Given the description of an element on the screen output the (x, y) to click on. 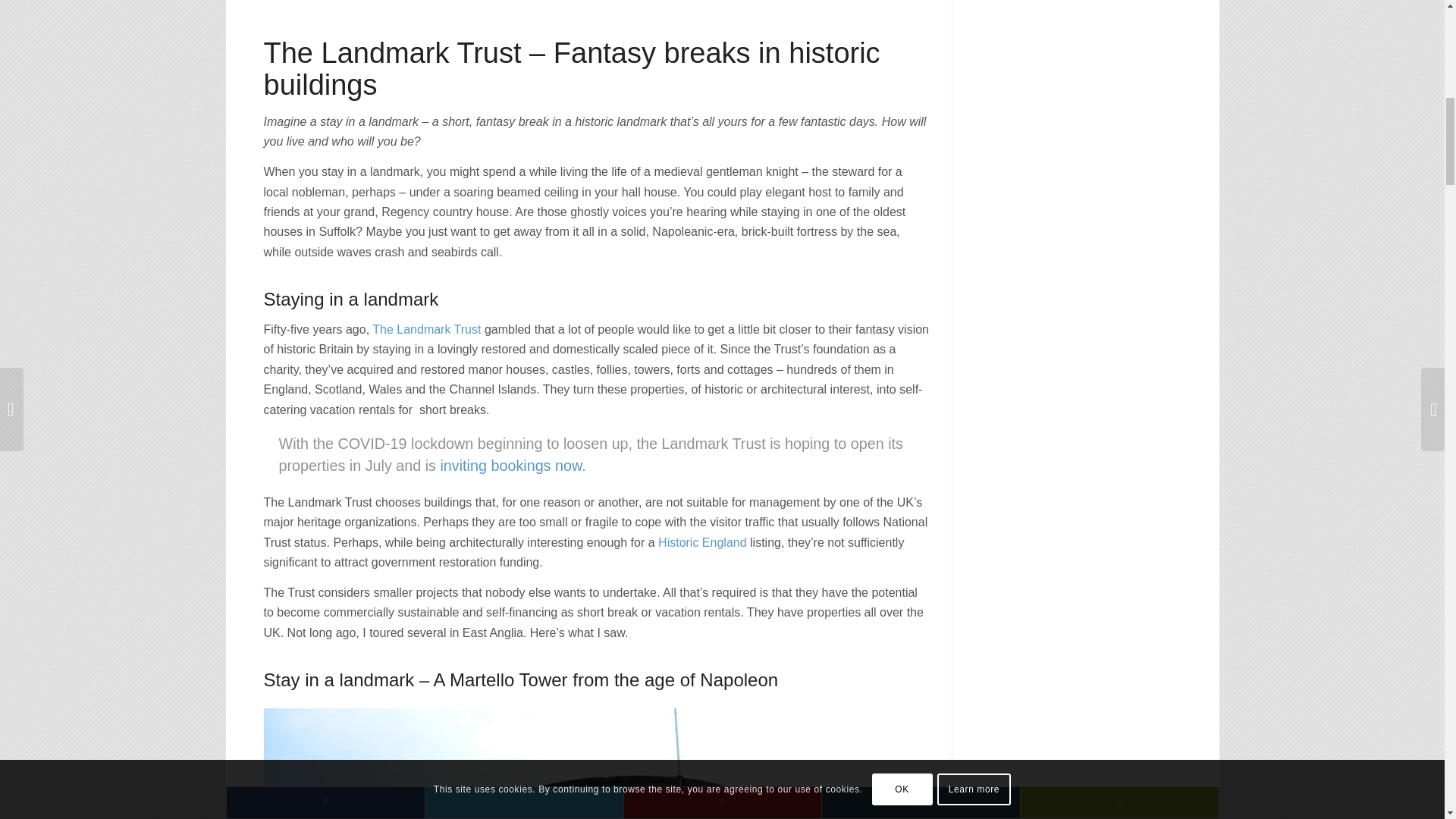
inviting bookings now (509, 465)
The Landmark Trust (426, 328)
Historic England (702, 542)
